Given the description of an element on the screen output the (x, y) to click on. 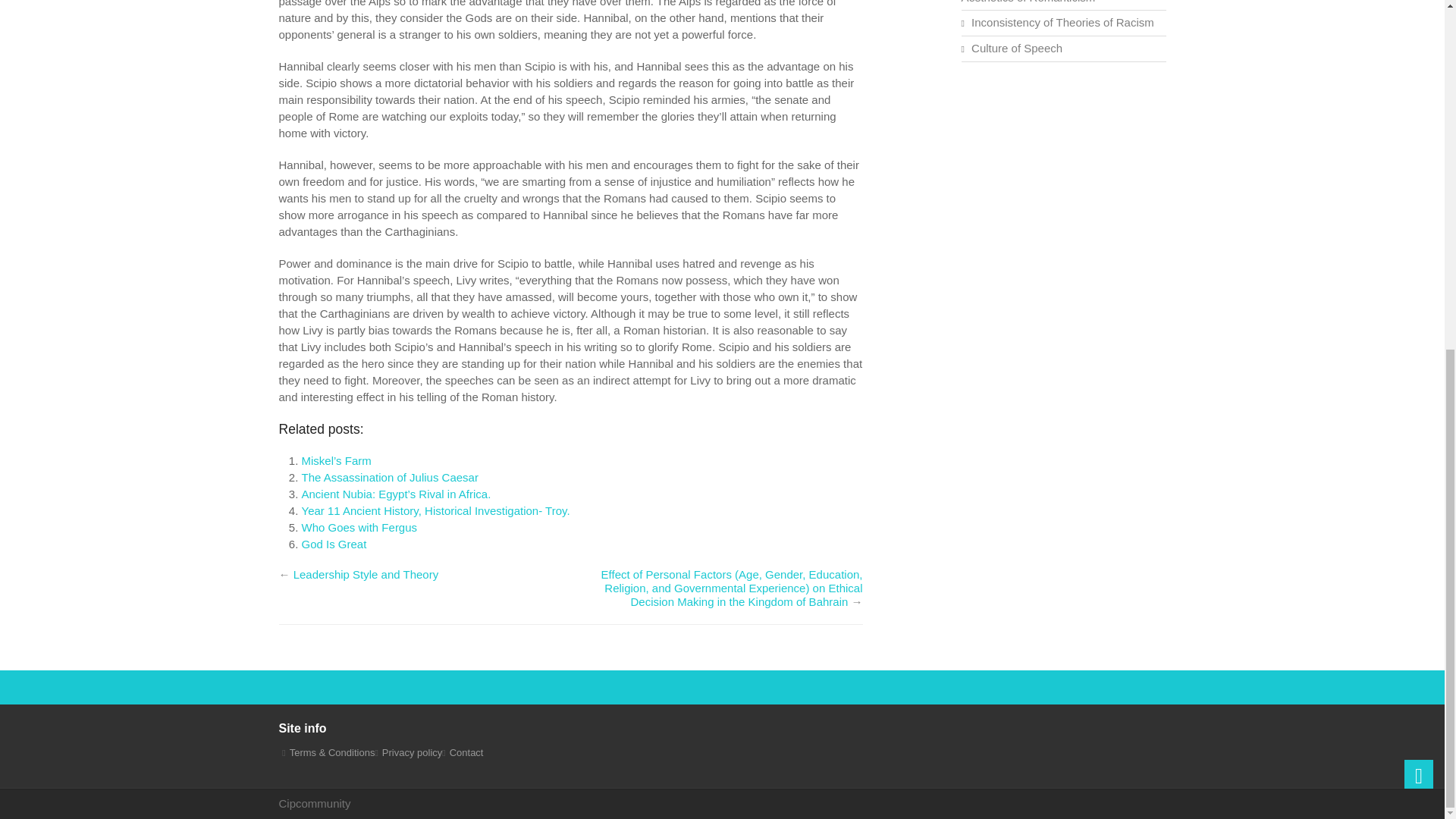
God Is Great (333, 543)
God Is Great (333, 543)
Who Goes with Fergus (359, 526)
Privacy policy (411, 752)
A Characteristic Feature of the Aesthetics of Romanticism (1042, 2)
Contact (466, 752)
Leadership Style and Theory (366, 574)
Culture of Speech (1016, 47)
Year 11 Ancient History, Historical Investigation- Troy. (435, 510)
The Assassination of Julius Caesar (390, 477)
Who Goes with Fergus (359, 526)
The Assassination of Julius Caesar (390, 477)
Back To Top (1418, 169)
Inconsistency of Theories of Racism (1062, 21)
Year 11 Ancient History, Historical Investigation- Troy. (435, 510)
